Given the description of an element on the screen output the (x, y) to click on. 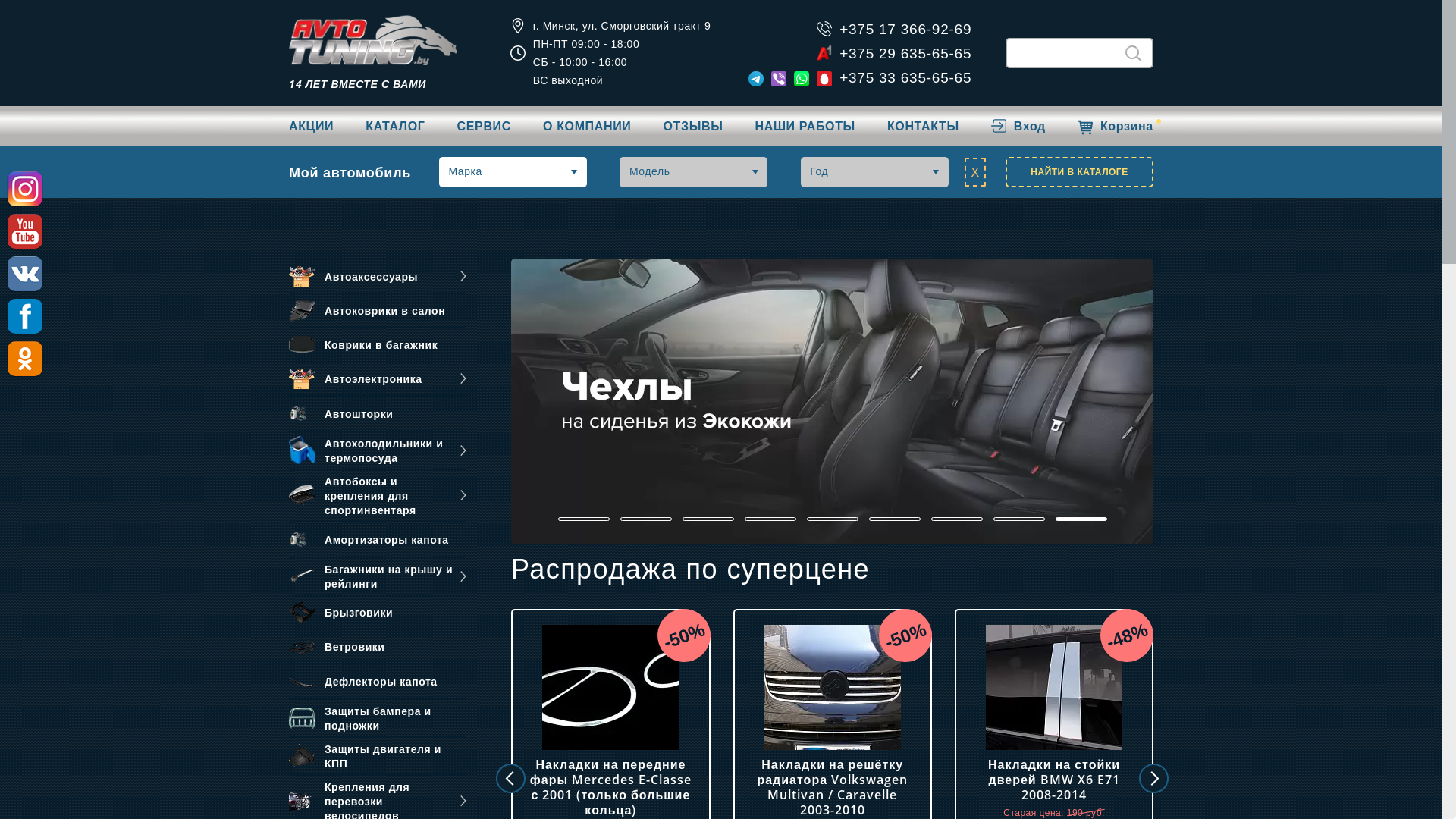
+375 29 635-65-65 Element type: text (905, 52)
+375 33 635-65-65 Element type: text (905, 77)
+375 17 366-92-69 Element type: text (905, 28)
